Given the description of an element on the screen output the (x, y) to click on. 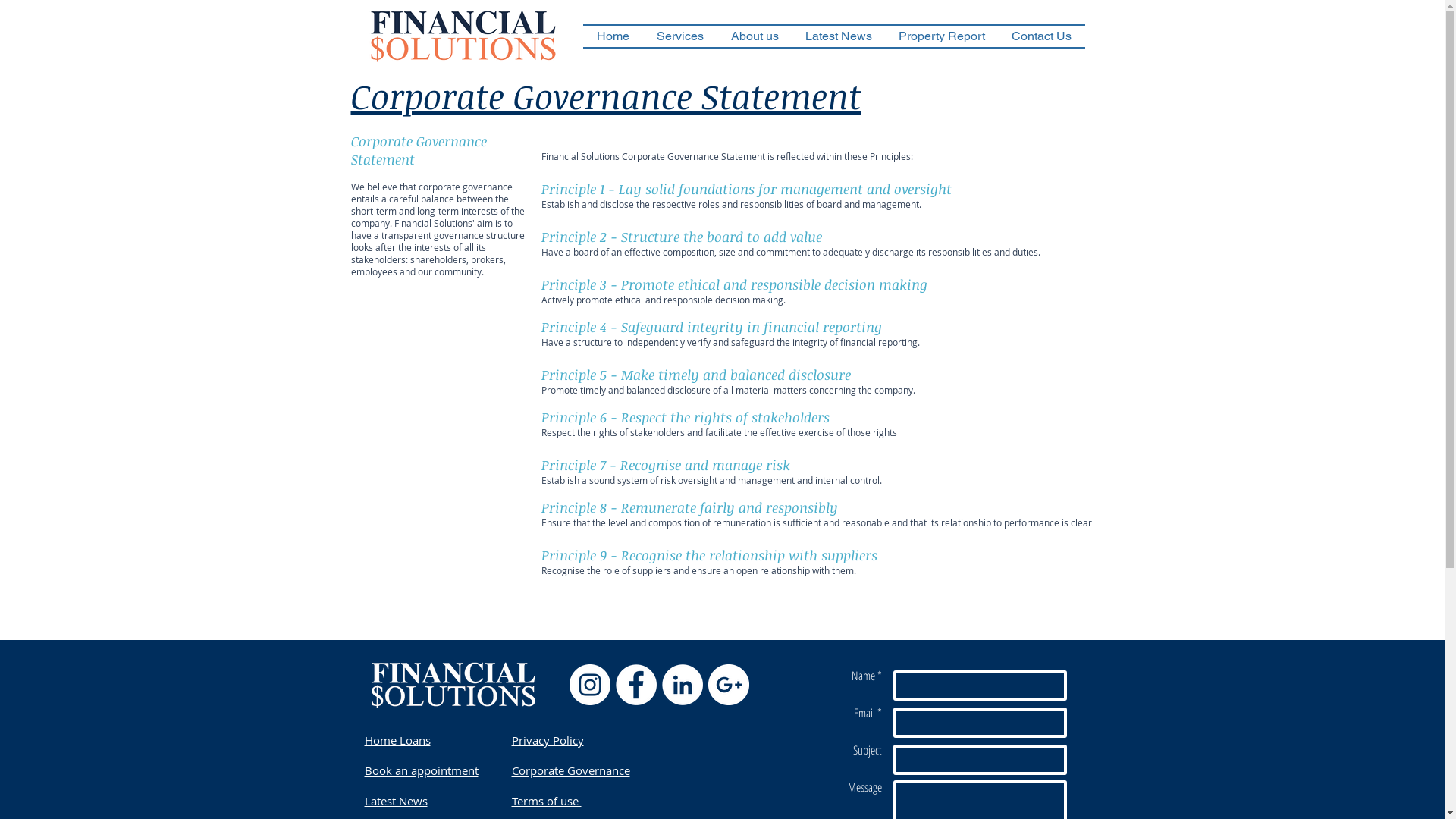
Latest News Element type: text (395, 800)
Latest News Element type: text (837, 36)
Book an appointment Element type: text (420, 770)
Terms of use  Element type: text (545, 800)
Home Loans Element type: text (396, 739)
Contact Us Element type: text (1040, 36)
Services Element type: text (680, 36)
About us Element type: text (754, 36)
Corporate Governance Element type: text (570, 770)
Privacy Policy Element type: text (547, 739)
Home Element type: text (612, 36)
Property Report Element type: text (941, 36)
